Given the description of an element on the screen output the (x, y) to click on. 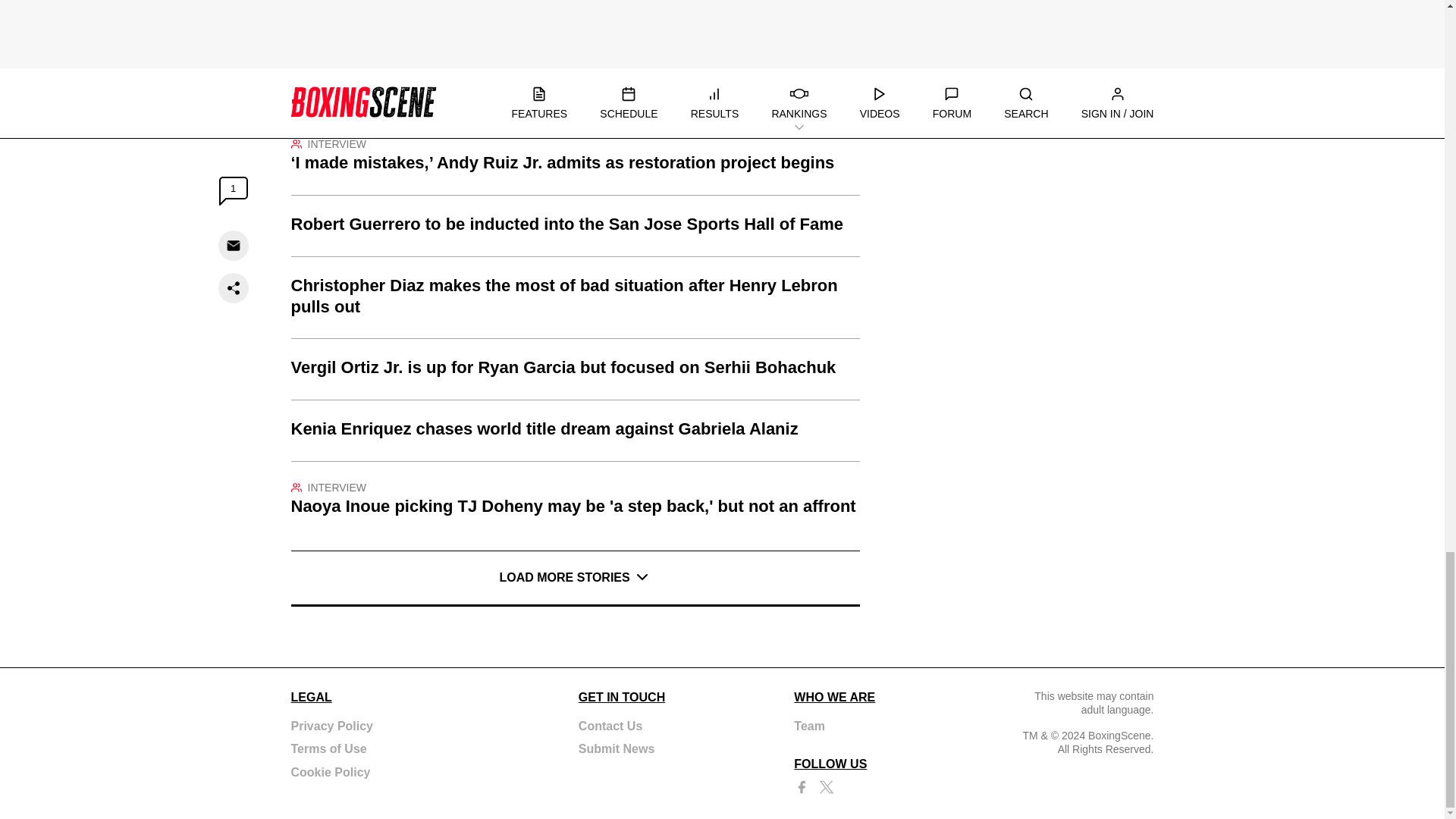
Eddie Hearn: 154 pounds a step too far for Terence Crawford (575, 24)
